Given the description of an element on the screen output the (x, y) to click on. 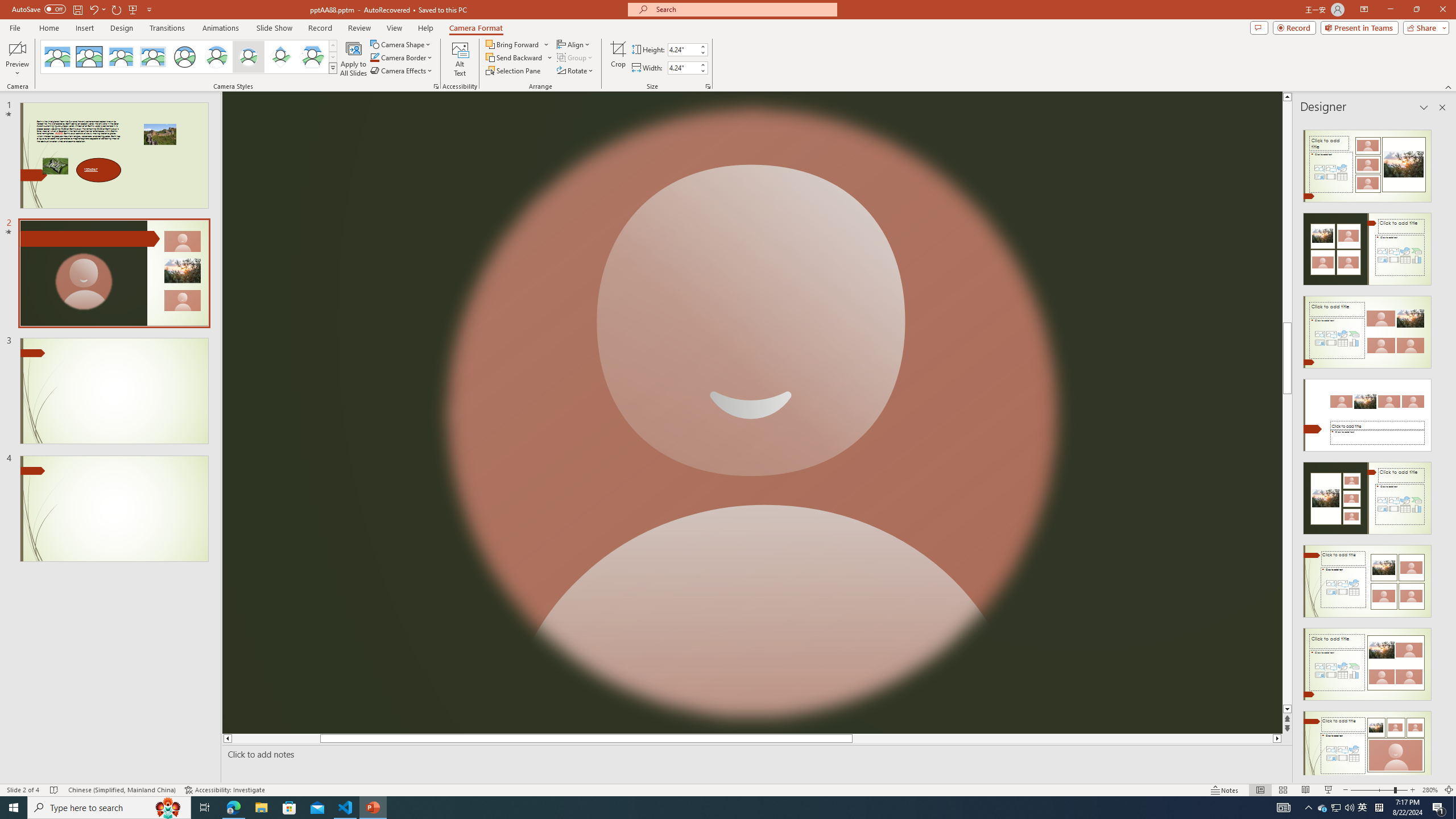
Slide Show (1328, 790)
Zoom In (1412, 790)
Task Pane Options (1423, 107)
Collapse the Ribbon (1448, 86)
Line down (1287, 709)
Slide Sorter (1282, 790)
Less (702, 70)
Zoom (1379, 790)
Rotate (575, 69)
Class: MsoCommandBar (728, 789)
Group (575, 56)
Size and Position... (707, 85)
Recommended Design: Design Idea (1366, 162)
